Given the description of an element on the screen output the (x, y) to click on. 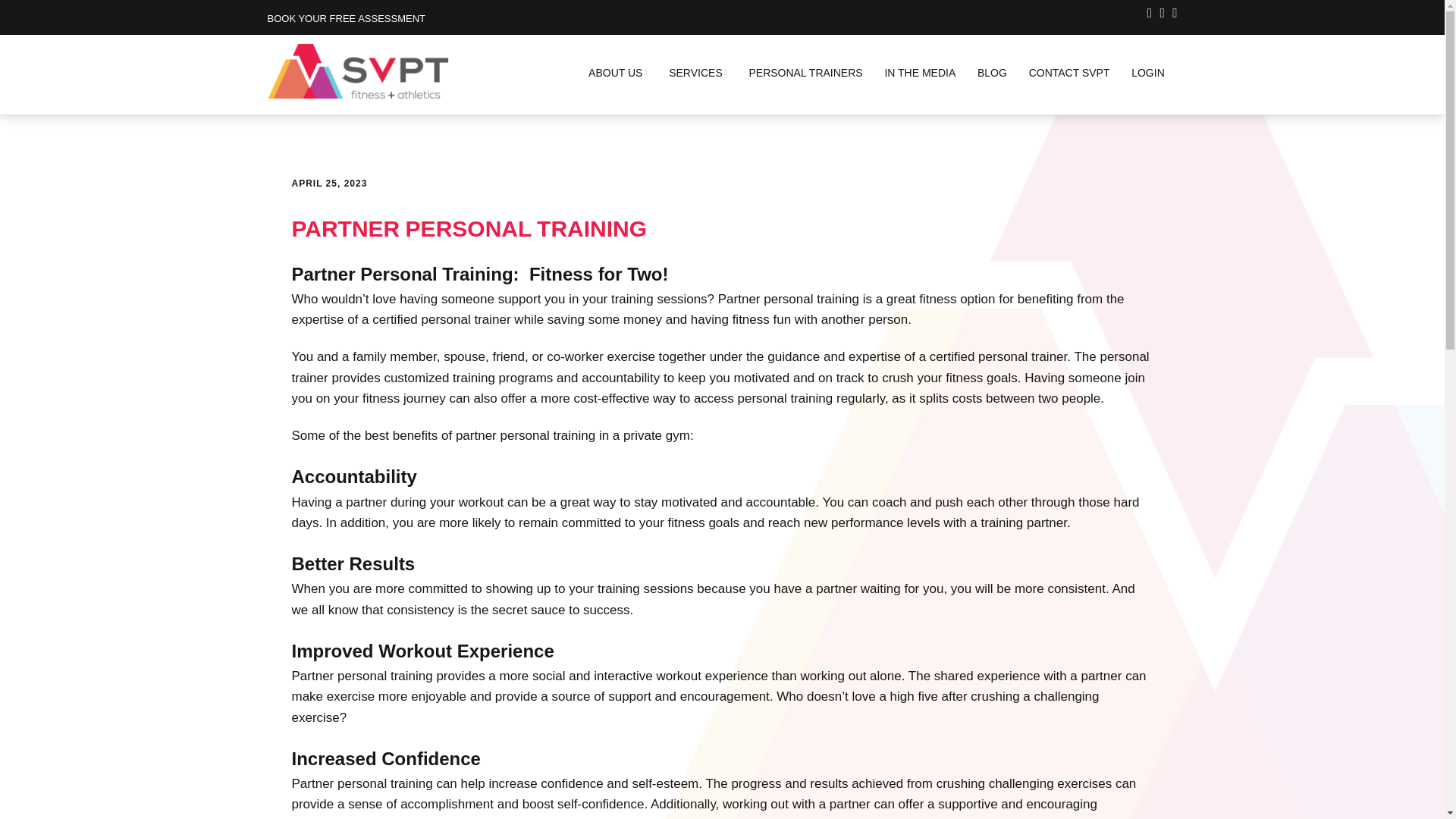
PERSONAL TRAINERS (804, 73)
BOOK YOUR FREE ASSESSMENT (345, 18)
IN THE MEDIA (919, 73)
ABOUT US (617, 73)
LOGIN (1147, 73)
BLOG (992, 73)
SERVICES (697, 73)
CONTACT SVPT (1069, 73)
